Given the description of an element on the screen output the (x, y) to click on. 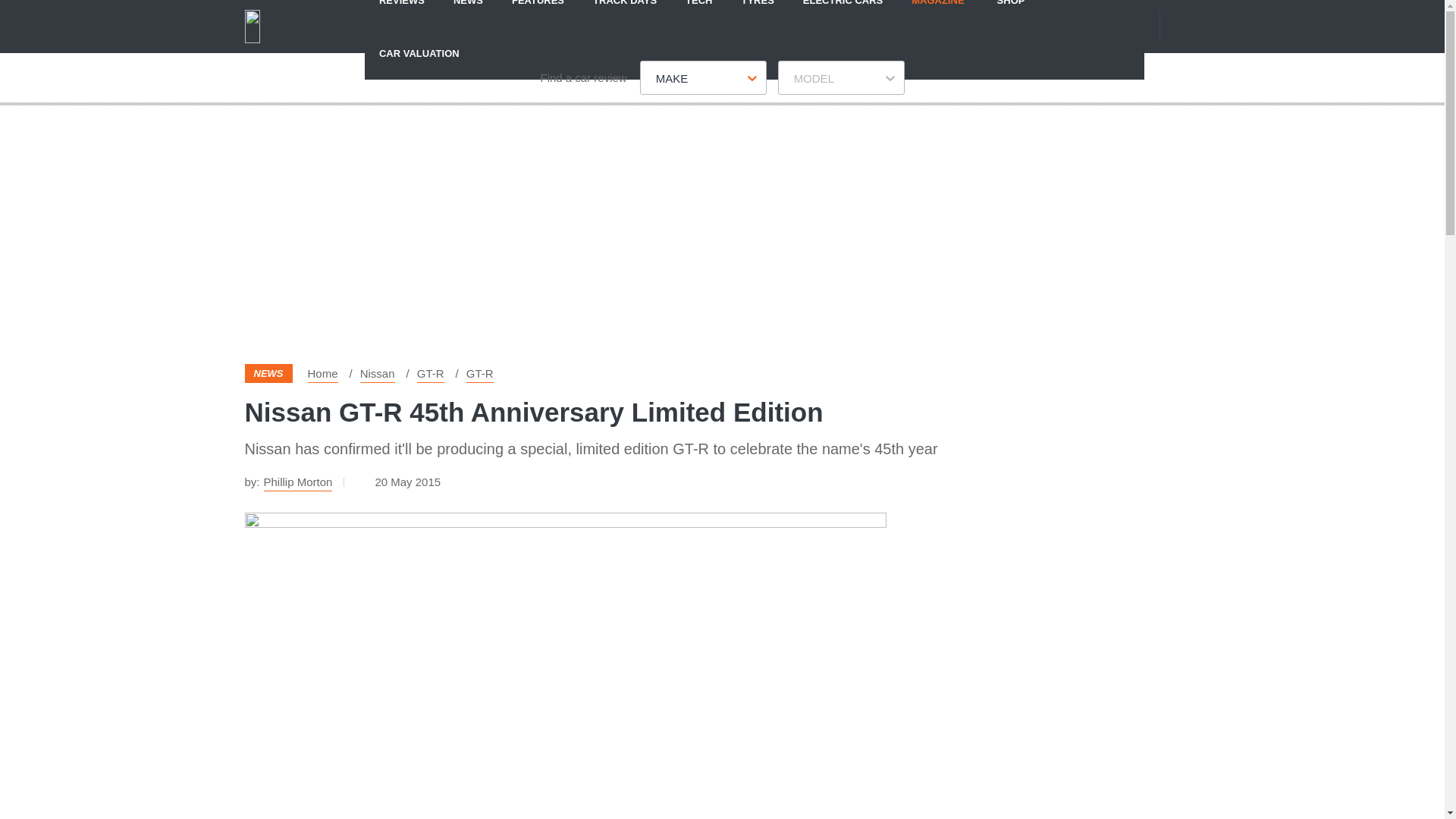
CAR VALUATION (419, 52)
SHOP (1010, 13)
MAGAZINE (937, 13)
TECH (698, 13)
TYRES (756, 13)
FEATURES (537, 13)
NEWS (468, 13)
Search (1189, 26)
ELECTRIC CARS (842, 13)
TRACK DAYS (624, 13)
